Given the description of an element on the screen output the (x, y) to click on. 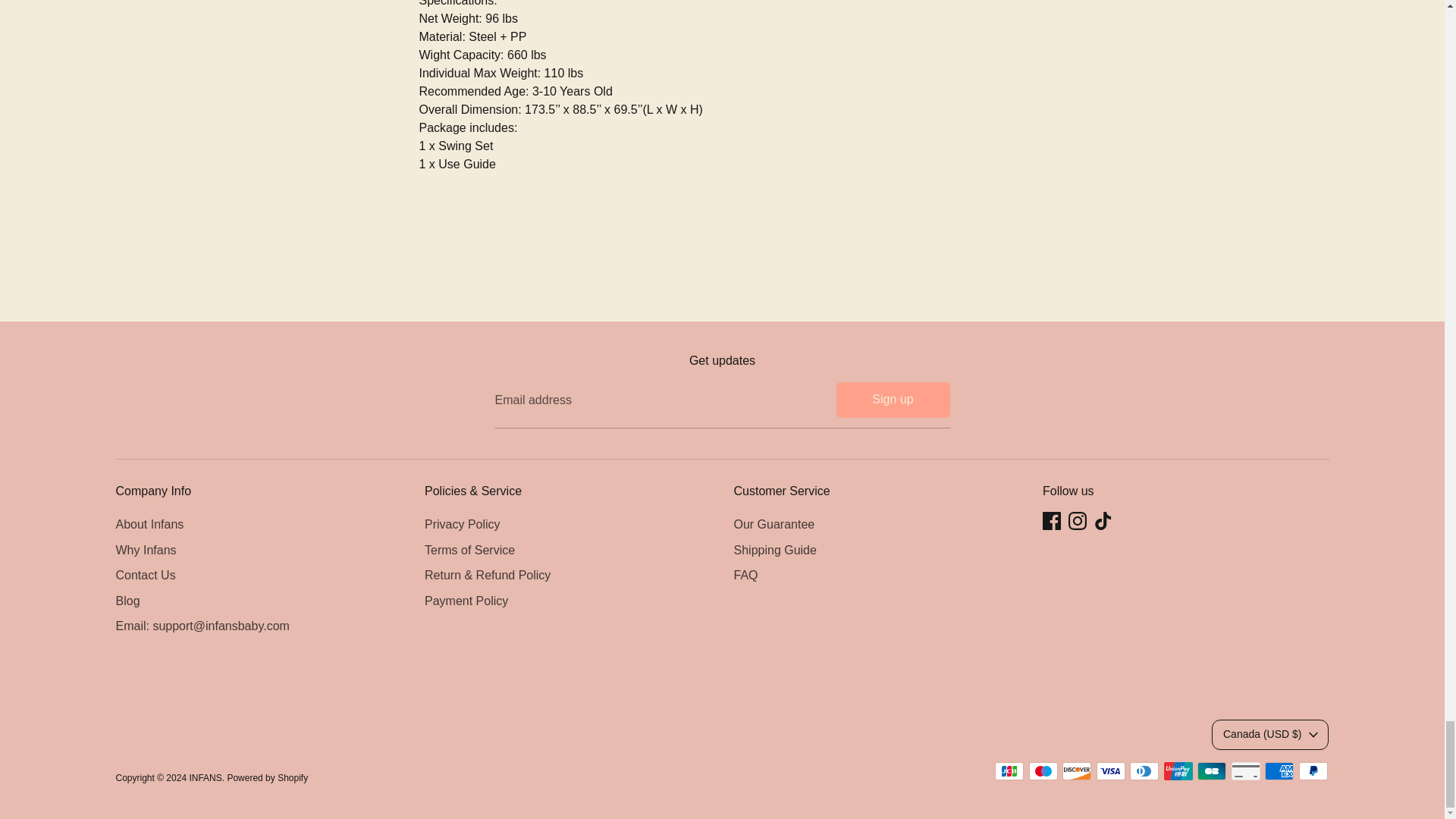
Visa (1110, 771)
Discover (1076, 771)
Maestro (1043, 771)
JCB (1008, 771)
Diners Club (1143, 771)
